Given the description of an element on the screen output the (x, y) to click on. 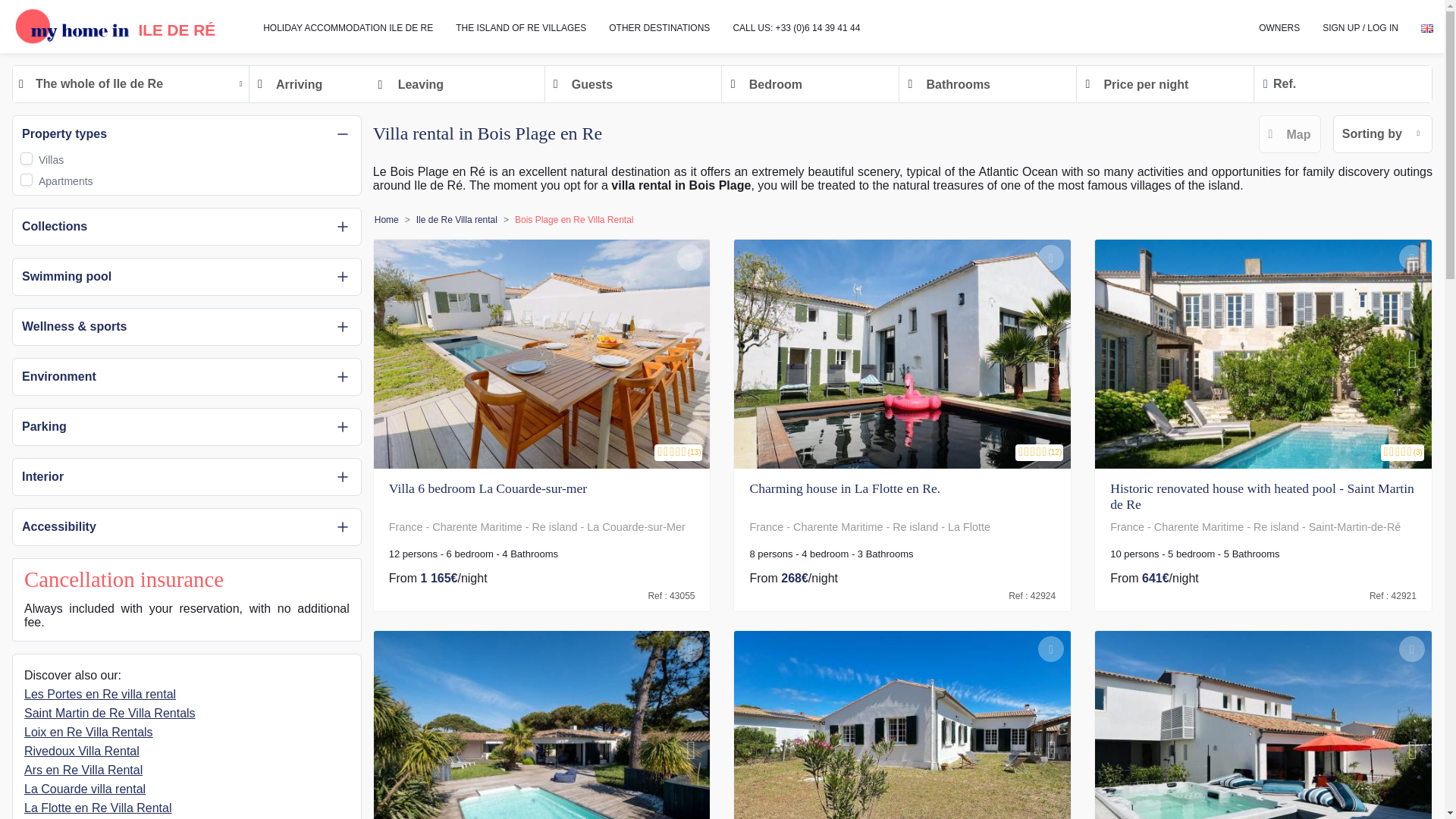
THE ISLAND OF RE VILLAGES (520, 26)
OTHER DESTINATIONS (658, 26)
1 (26, 179)
HOLIDAY ACCOMMODATION ILE DE RE (347, 26)
1 (26, 158)
OWNERS (1279, 26)
